Given the description of an element on the screen output the (x, y) to click on. 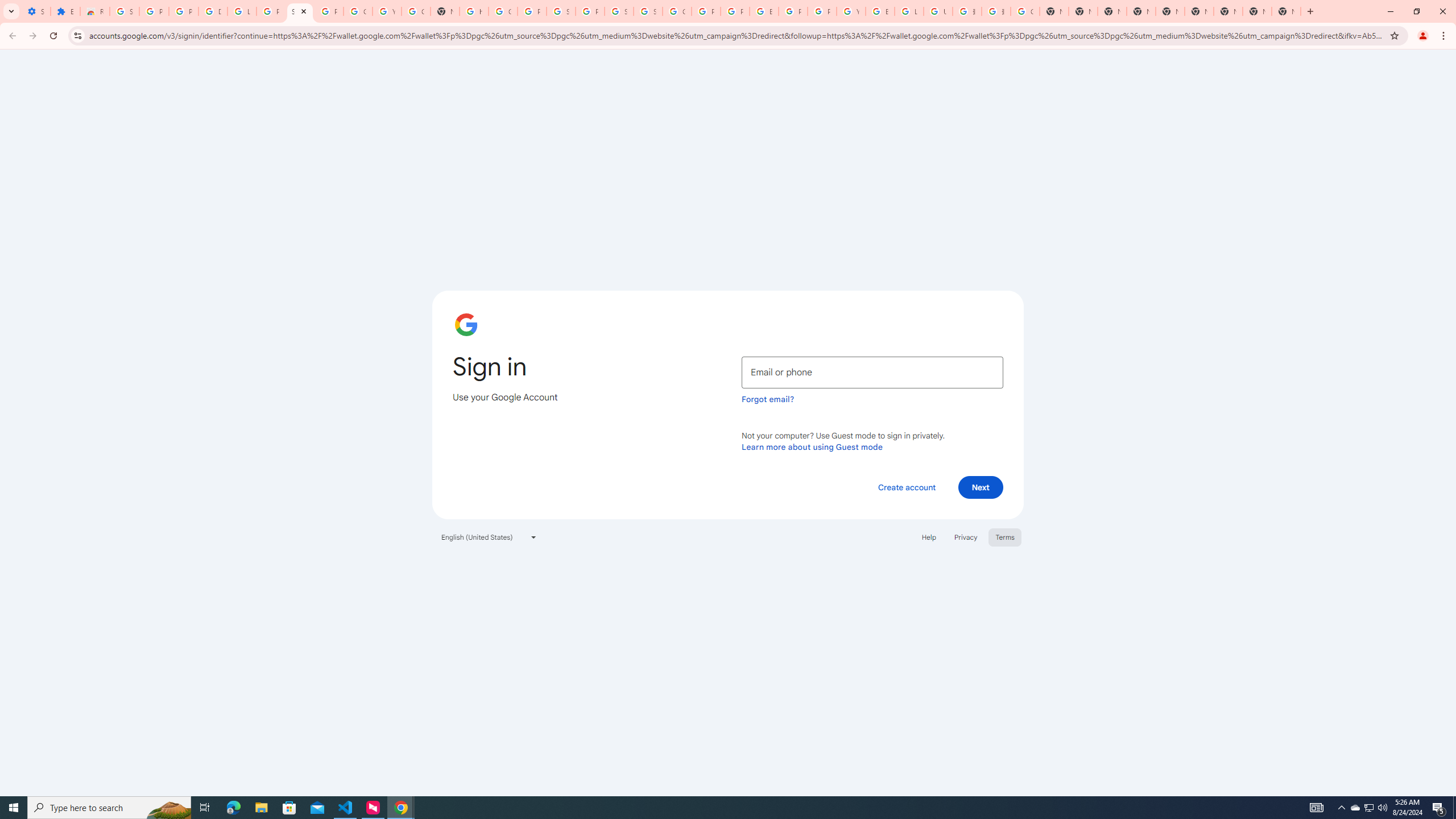
Browse Chrome as a guest - Computer - Google Chrome Help (879, 11)
Delete photos & videos - Computer - Google Photos Help (212, 11)
Sign in - Google Accounts (124, 11)
Forgot email? (767, 398)
Google Account (357, 11)
